Given the description of an element on the screen output the (x, y) to click on. 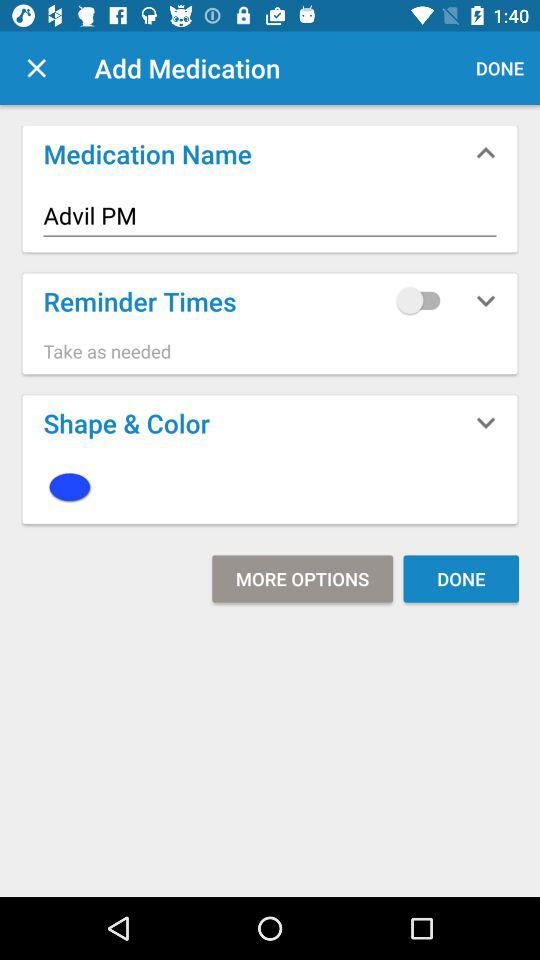
flip until the   item (269, 486)
